Given the description of an element on the screen output the (x, y) to click on. 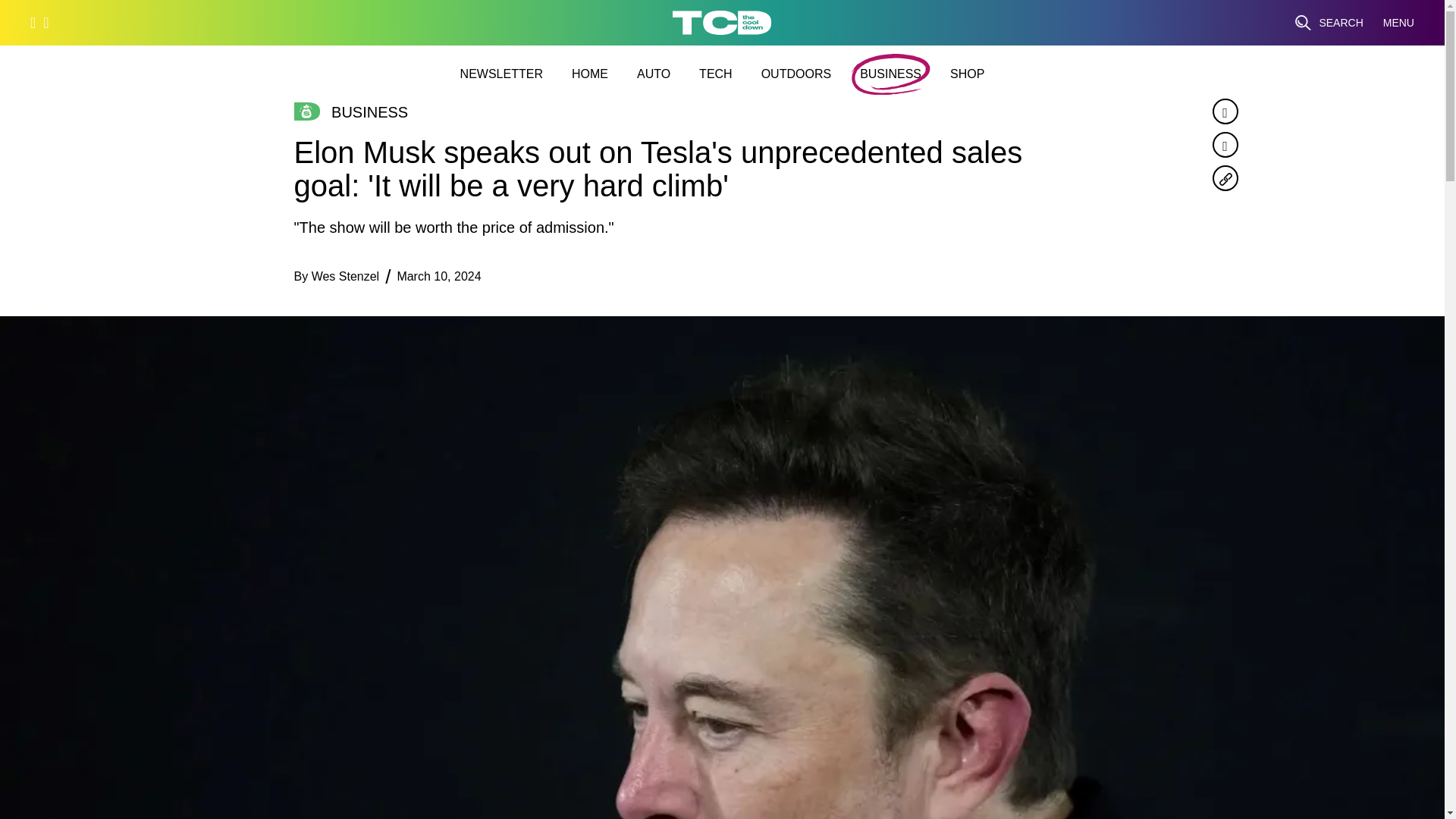
BUSINESS (890, 73)
SEARCH (1328, 22)
NEWSLETTER (501, 73)
MENU (1398, 22)
HOME (590, 73)
Twitter (1224, 144)
AUTO (653, 73)
TECH (715, 73)
SHOP (967, 73)
OUTDOORS (796, 73)
